Given the description of an element on the screen output the (x, y) to click on. 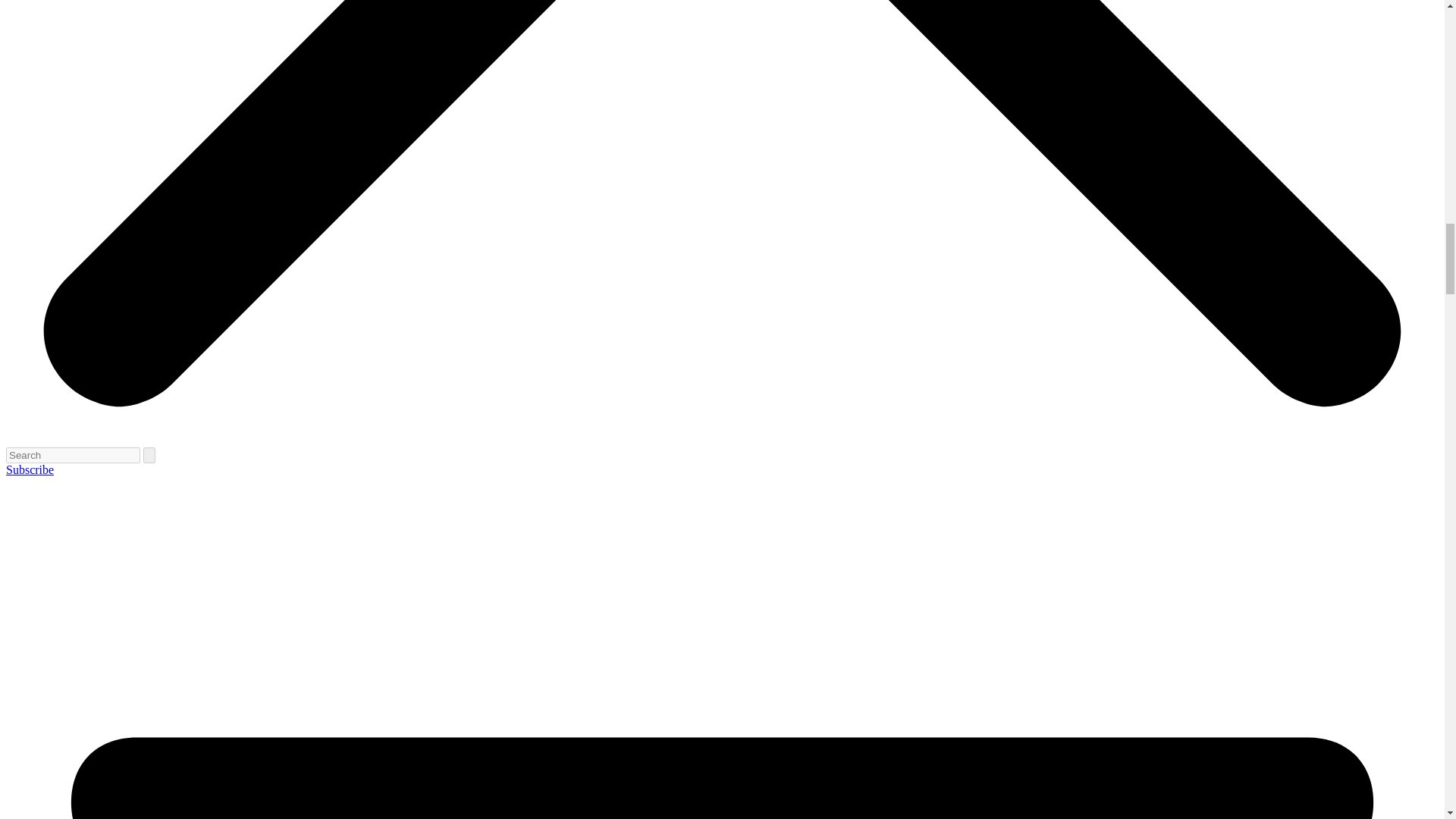
Submit the search query. (148, 455)
Subscribe (29, 469)
